Given the description of an element on the screen output the (x, y) to click on. 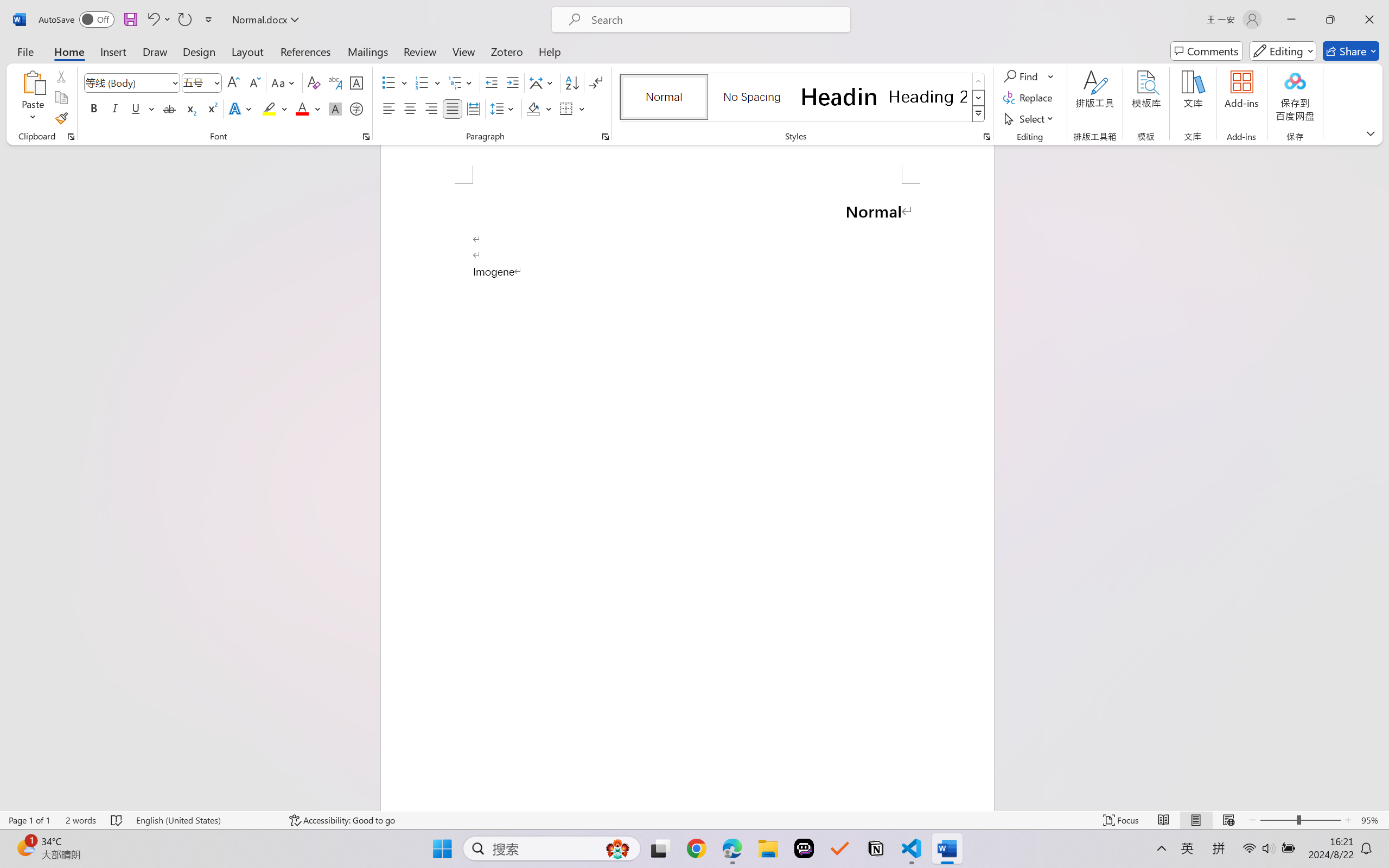
Class: MsoCommandBar (694, 819)
Asian Layout (542, 82)
Format Painter (60, 118)
Heading 1 (839, 96)
